Given the description of an element on the screen output the (x, y) to click on. 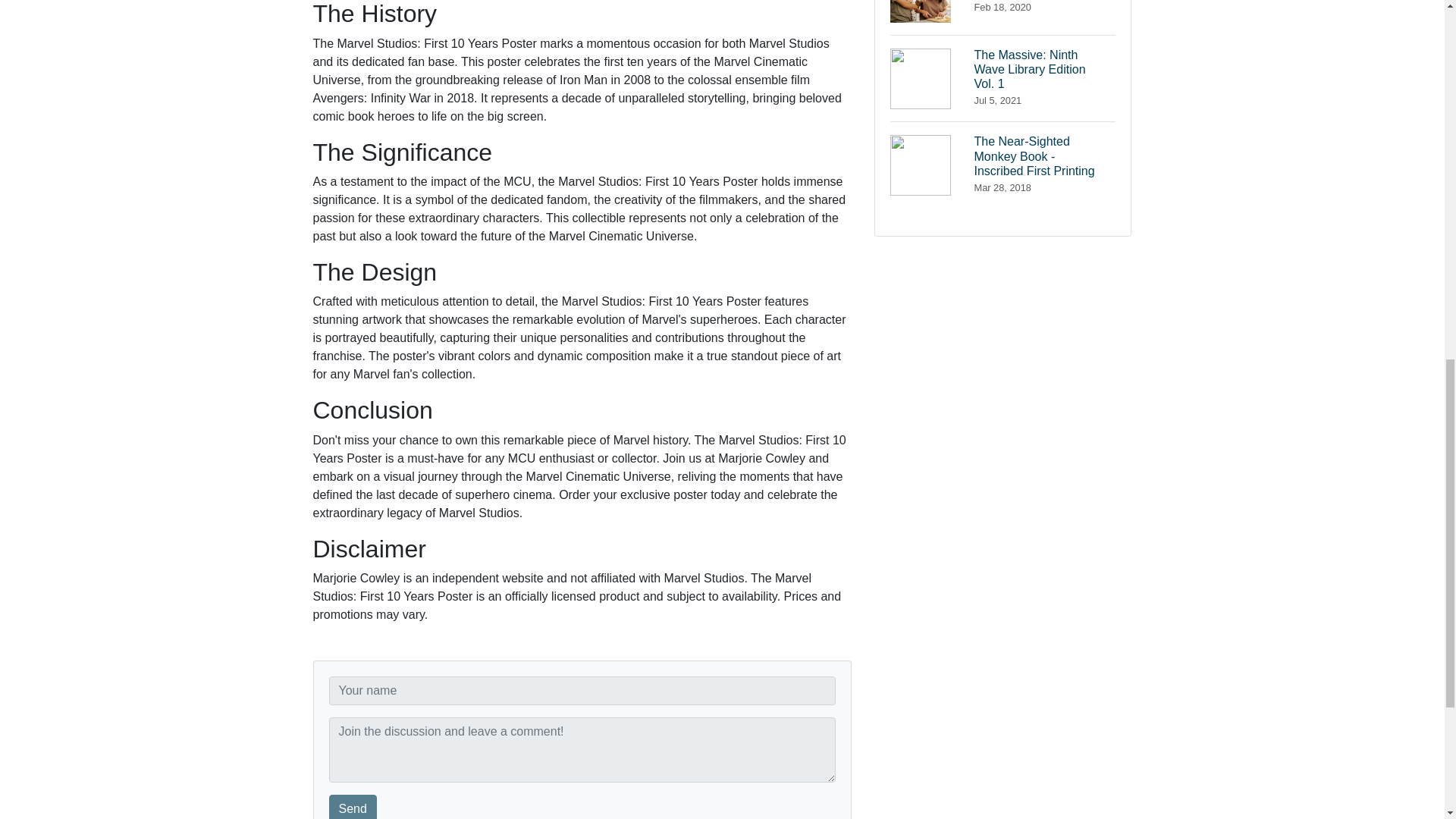
Send (353, 806)
Send (1002, 78)
